Given the description of an element on the screen output the (x, y) to click on. 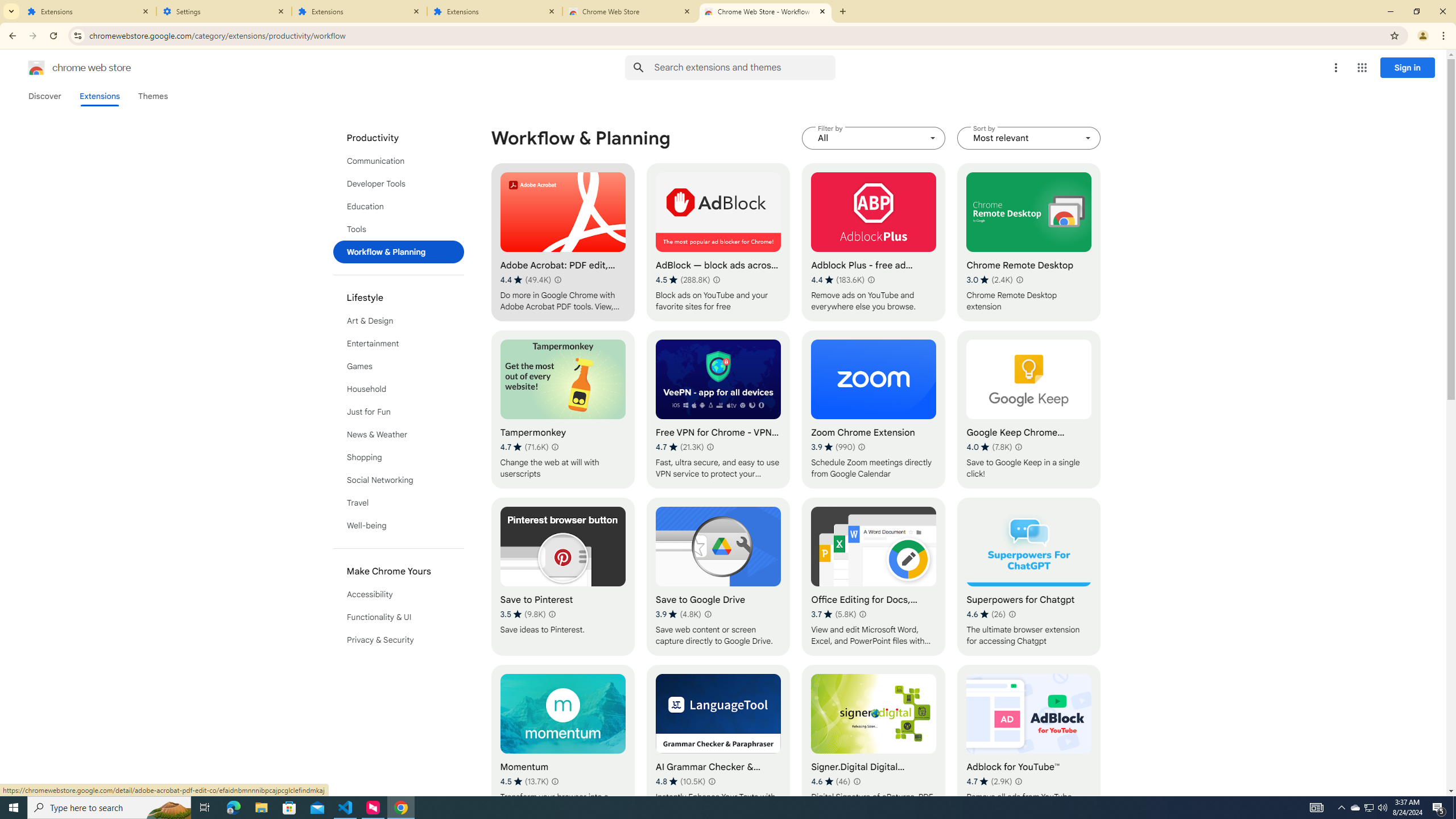
Learn more about results and reviews "Save to Pinterest" (552, 613)
Accessibility (398, 594)
Average rating 3.9 out of 5 stars. 4.8K ratings. (678, 613)
Average rating 3.9 out of 5 stars. 990 ratings. (833, 446)
Average rating 4.7 out of 5 stars. 2.9K ratings. (988, 781)
Zoom Chrome Extension (874, 409)
Themes (152, 95)
Office Editing for Docs, Sheets & Slides (874, 576)
Sort by Most relevant (1028, 137)
Functionality & UI (398, 617)
Google Keep Chrome Extension (1028, 409)
